Given the description of an element on the screen output the (x, y) to click on. 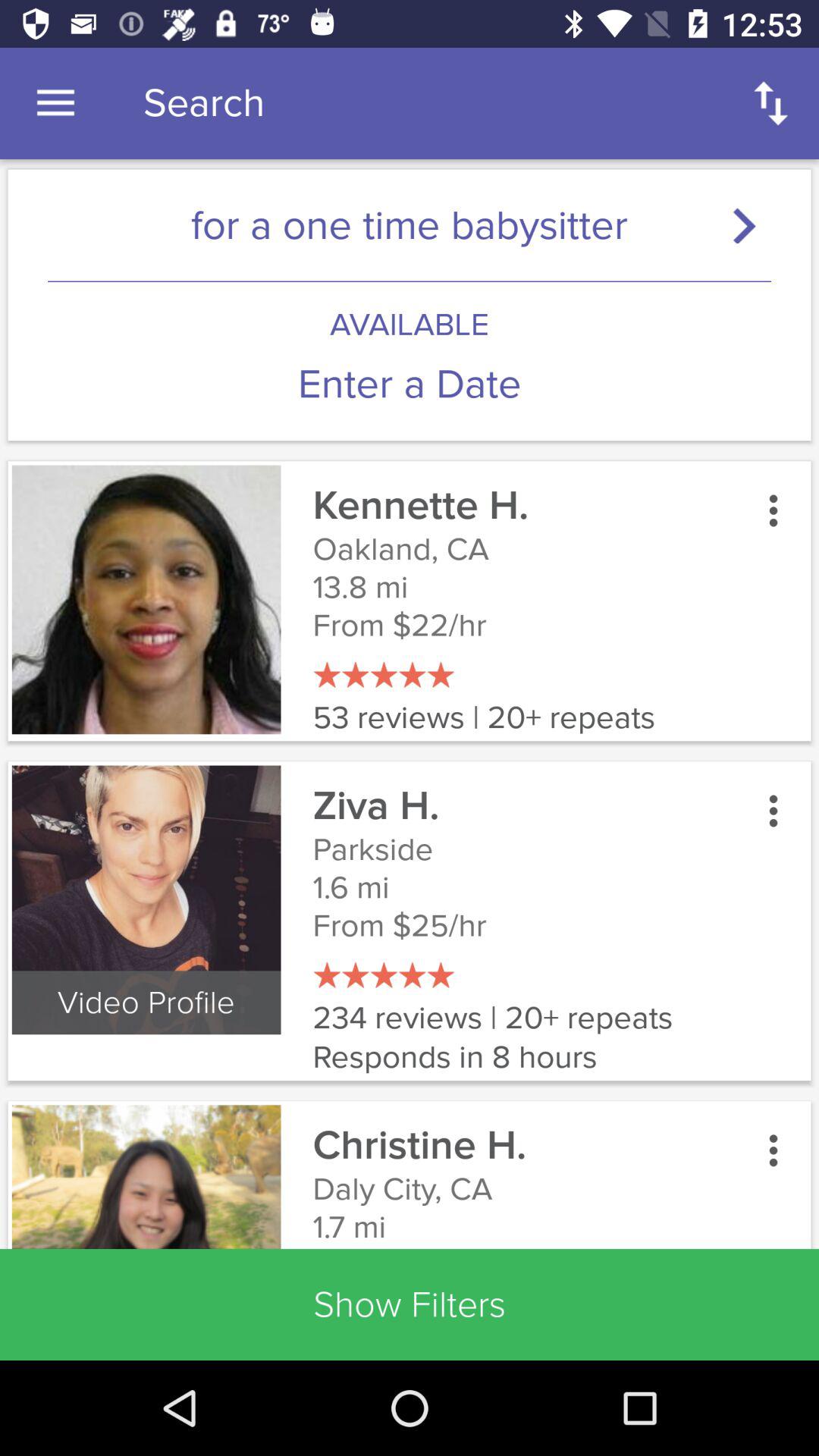
search button (751, 224)
